Given the description of an element on the screen output the (x, y) to click on. 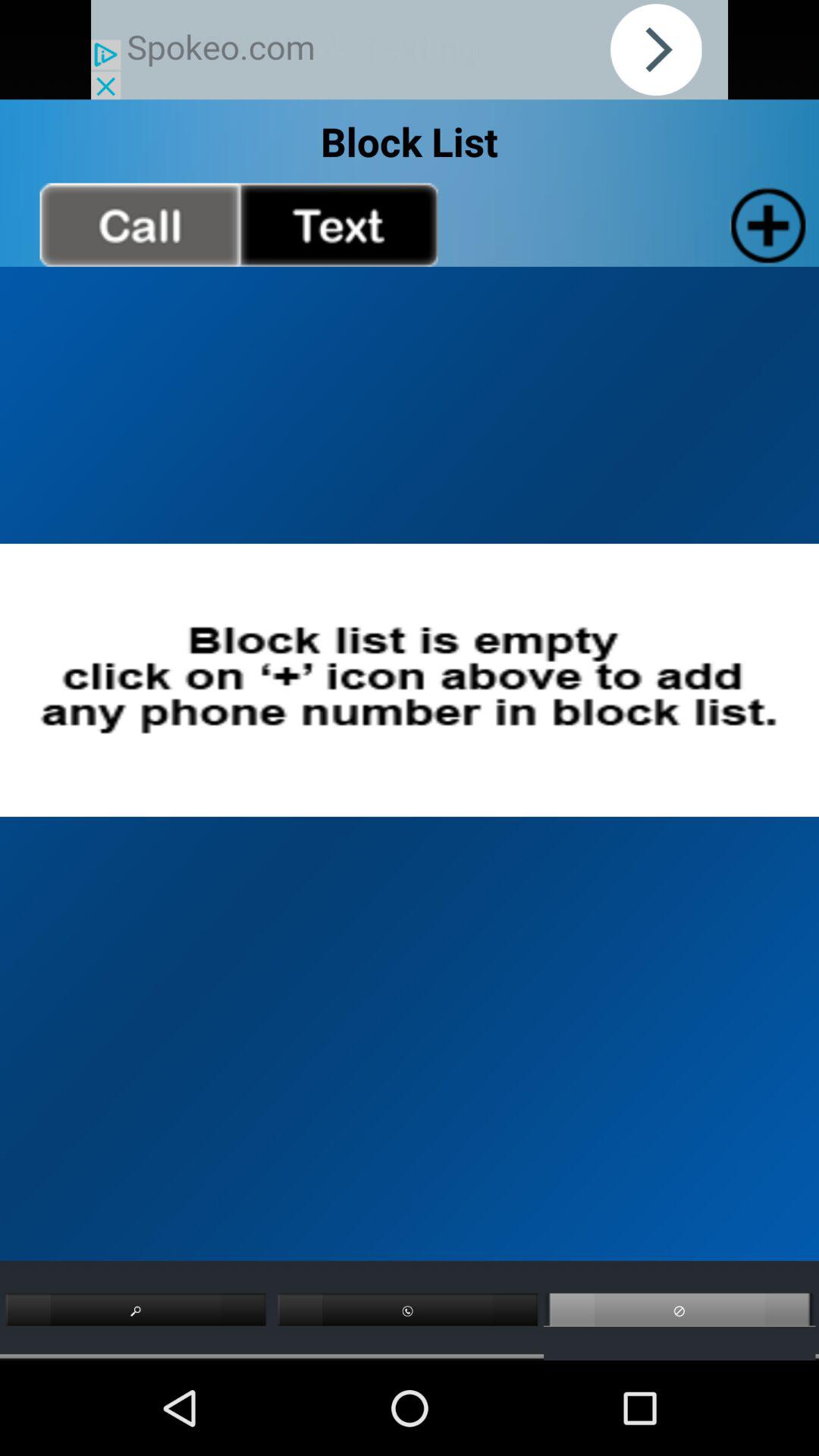
open advertisement (409, 49)
